Given the description of an element on the screen output the (x, y) to click on. 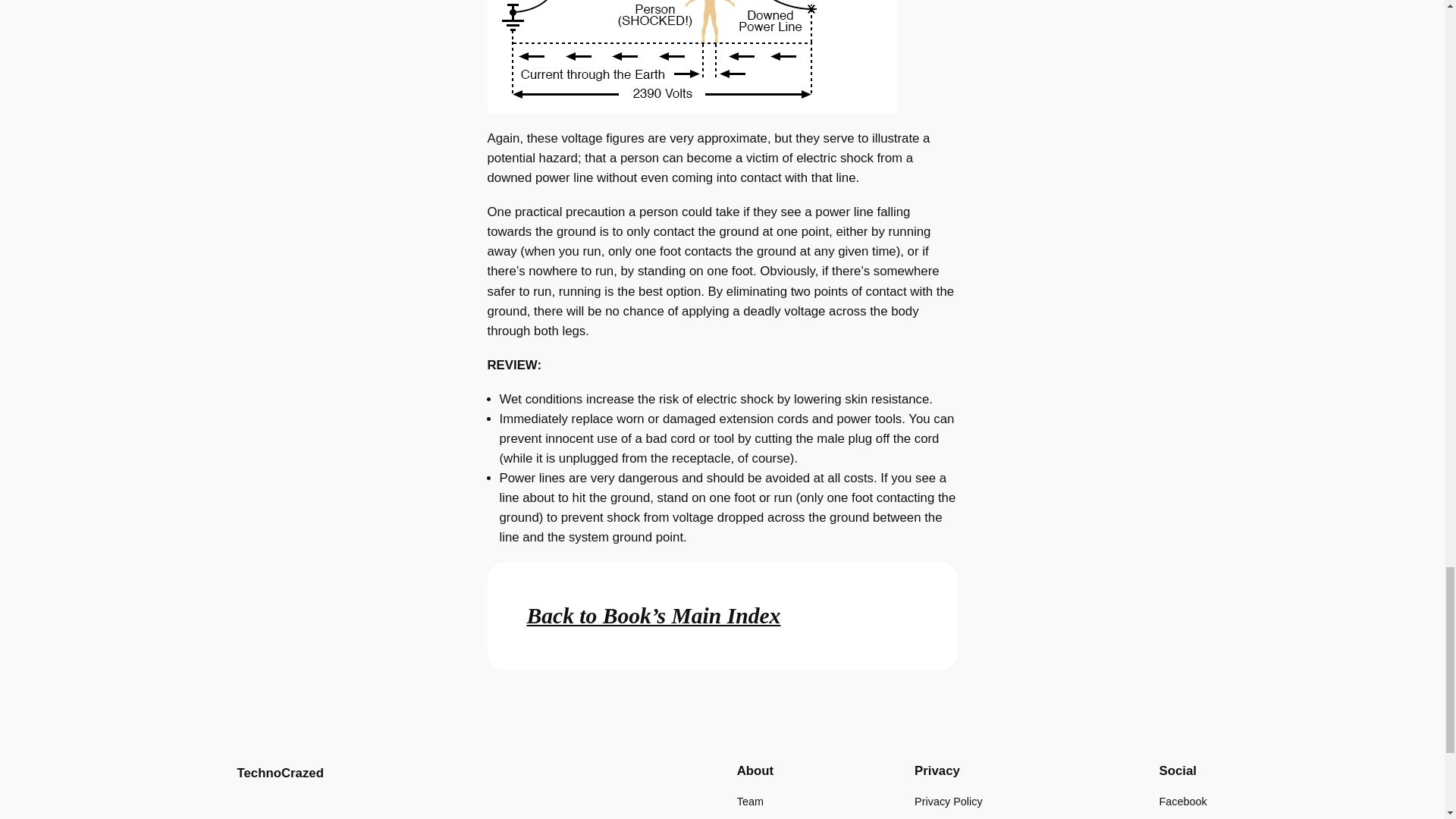
TechnoCrazed (279, 772)
Facebook (1182, 801)
Privacy Policy (948, 801)
Team (749, 801)
